Given the description of an element on the screen output the (x, y) to click on. 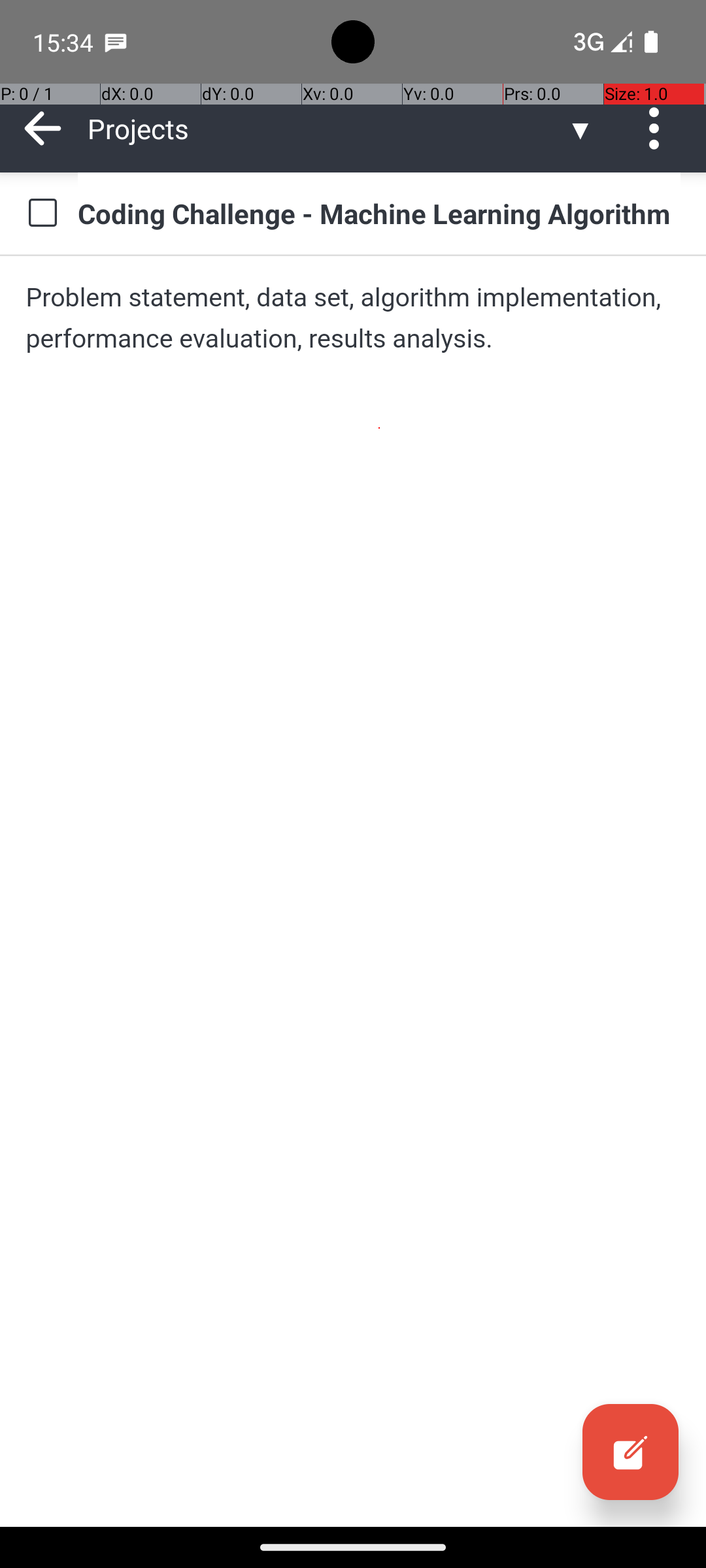
Coding Challenge - Machine Learning Algorithm Element type: android.widget.EditText (378, 213)
Edit, collapsed Element type: android.widget.Button (630, 1452)
Projects Element type: android.widget.TextView (326, 128)
 Element type: android.widget.TextView (630, 1451)
Problem statement, data set, algorithm implementation, performance evaluation, results analysis. Element type: android.widget.TextView (352, 317)
